Given the description of an element on the screen output the (x, y) to click on. 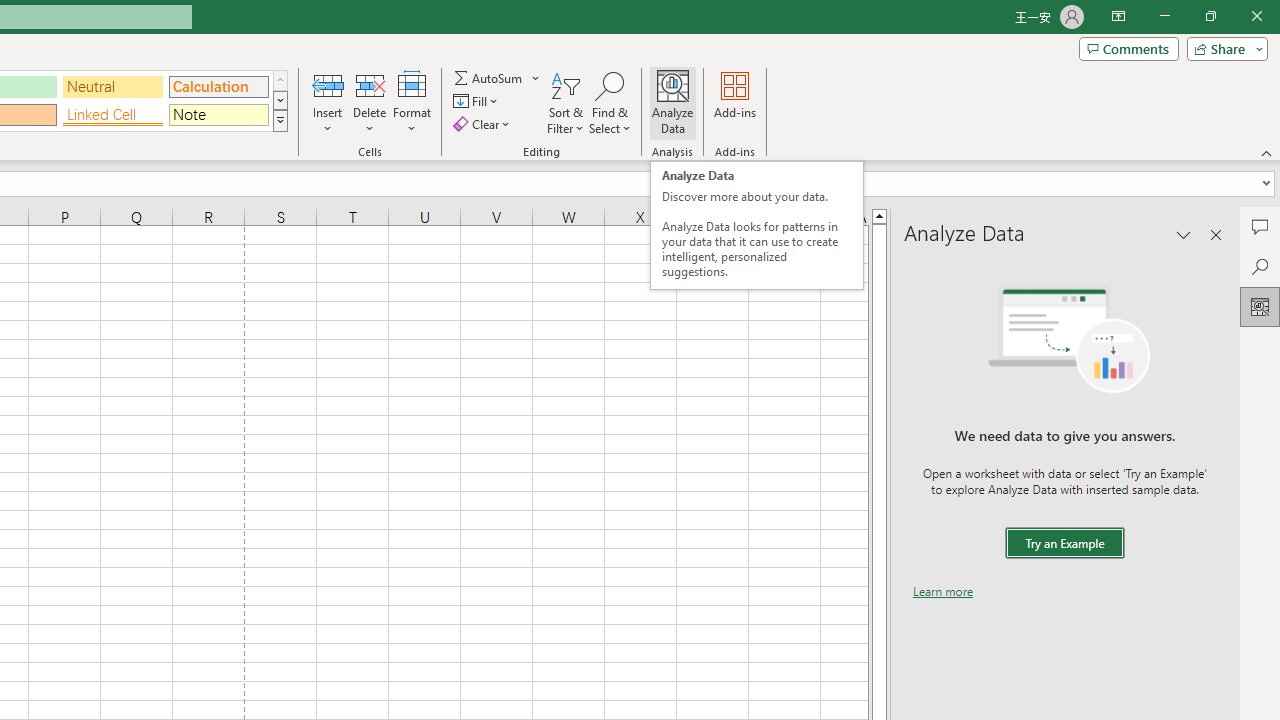
AutoSum (497, 78)
Linked Cell (113, 114)
Comments (1260, 226)
Line up (879, 215)
Sort & Filter (566, 102)
Note (218, 114)
Task Pane Options (1183, 234)
Insert Cells (328, 84)
Comments (1128, 48)
Analyze Data (1260, 306)
Learn more (943, 591)
Format (411, 102)
Find & Select (610, 102)
Clear (483, 124)
